Given the description of an element on the screen output the (x, y) to click on. 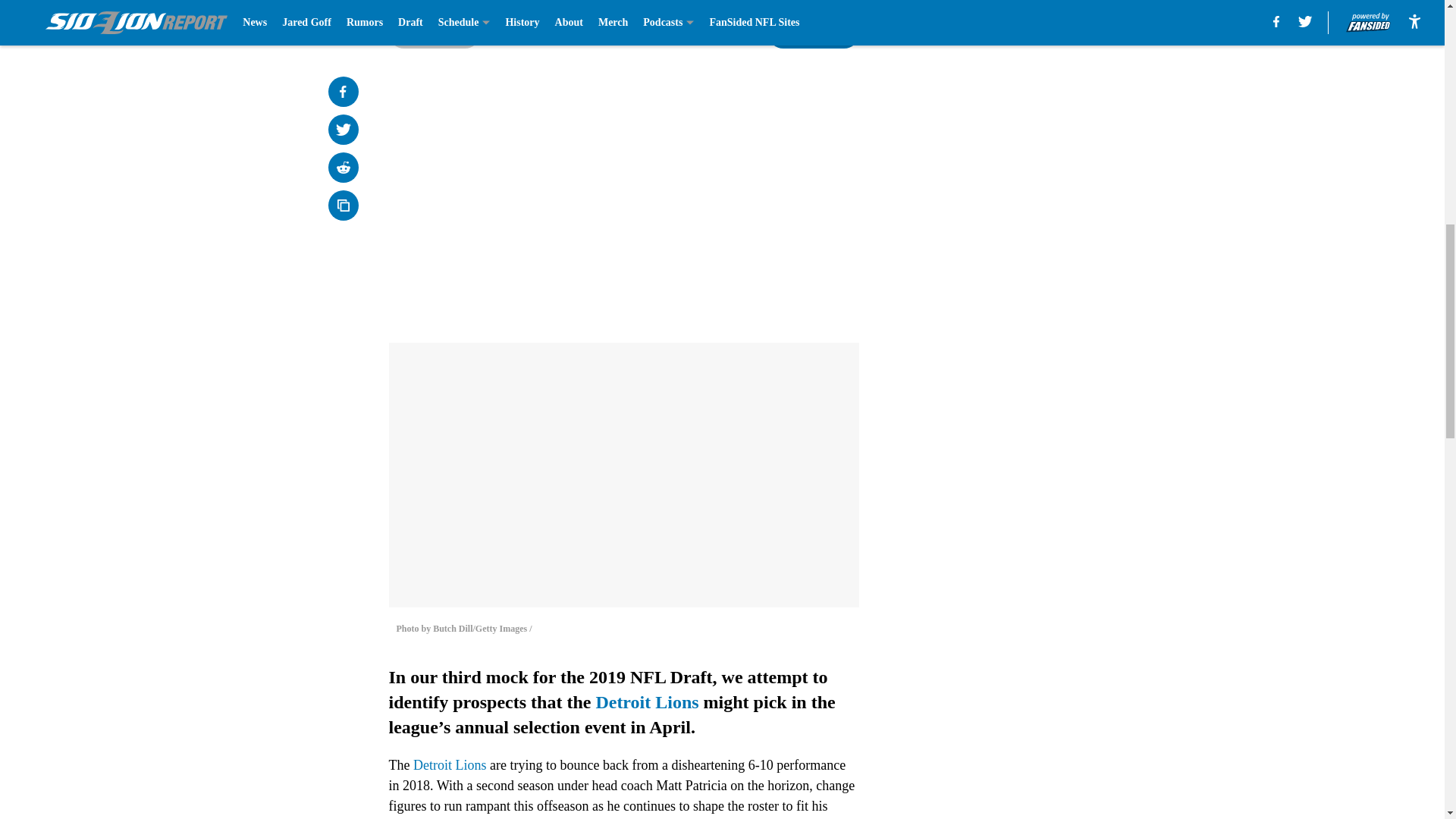
Detroit Lions (449, 765)
Detroit Lions (646, 701)
Prev (433, 33)
Next (813, 33)
